Given the description of an element on the screen output the (x, y) to click on. 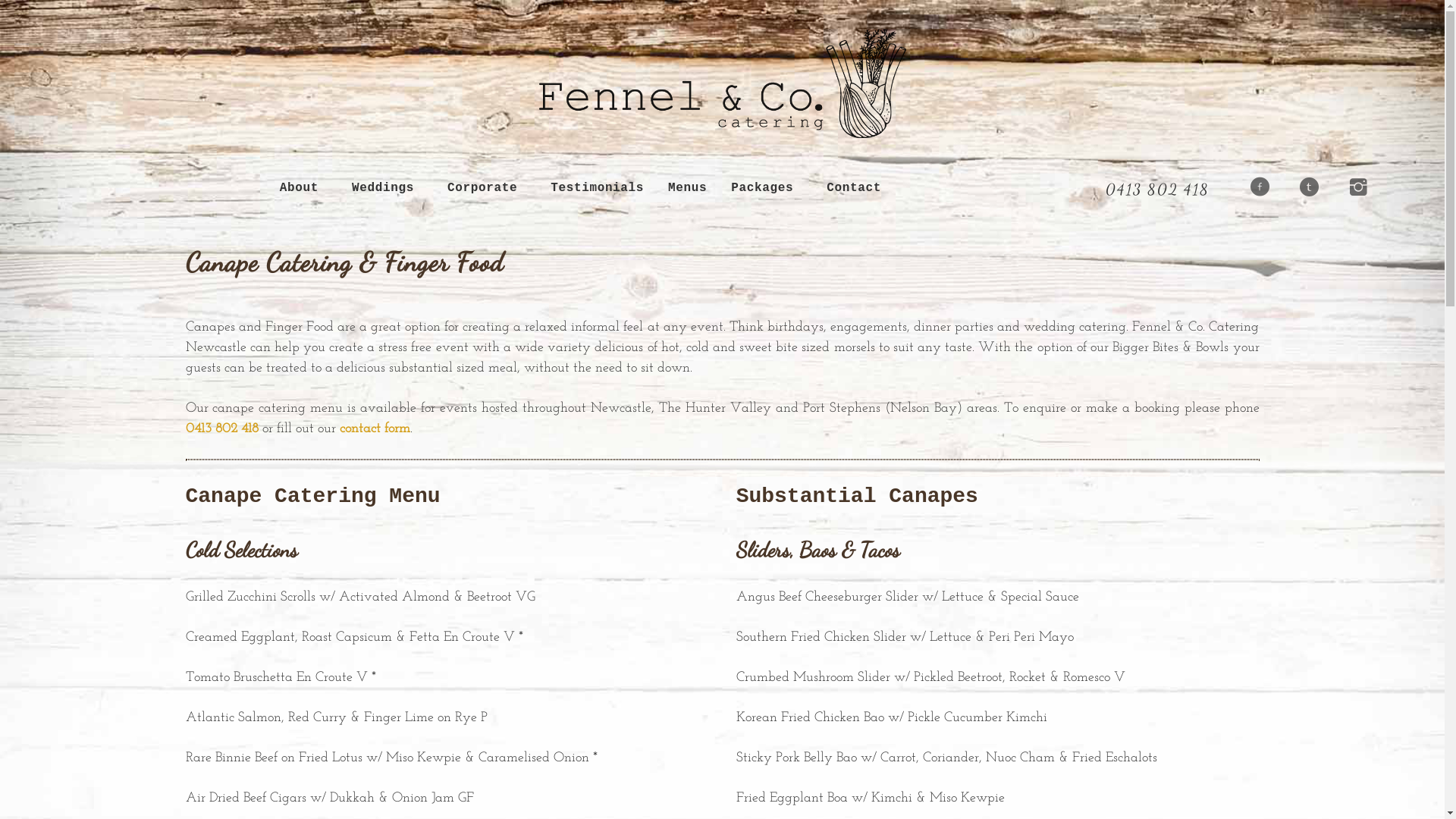
0413 802 418 Element type: text (1157, 189)
  Element type: text (1303, 187)
Testimonials Element type: text (596, 187)
Contact Element type: text (853, 187)
About Element type: text (299, 187)
Menus Element type: text (687, 187)
  Element type: text (1352, 187)
Packages Element type: text (761, 187)
contact form Element type: text (374, 428)
Weddings Element type: text (382, 187)
Corporate Element type: text (481, 187)
  Element type: text (1253, 187)
0413 802 418 Element type: text (221, 428)
FENNEL & CO CATERING NEWCASTLE Element type: text (721, 83)
